Given the description of an element on the screen output the (x, y) to click on. 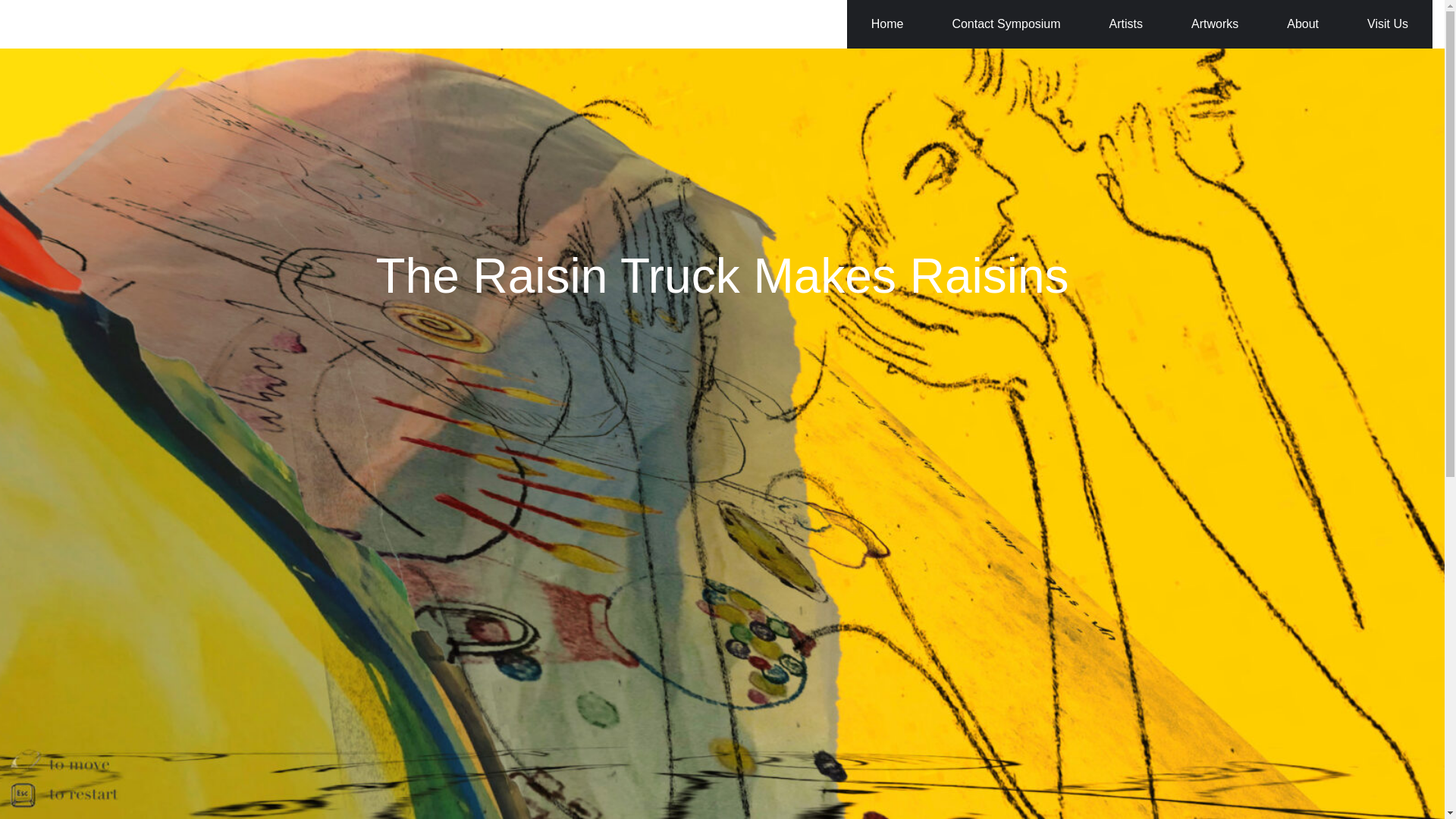
Artworks (1214, 24)
Contact Symposium (1005, 24)
Visit Us (1387, 24)
About (1302, 24)
Artists (1125, 24)
Home (887, 24)
